Given the description of an element on the screen output the (x, y) to click on. 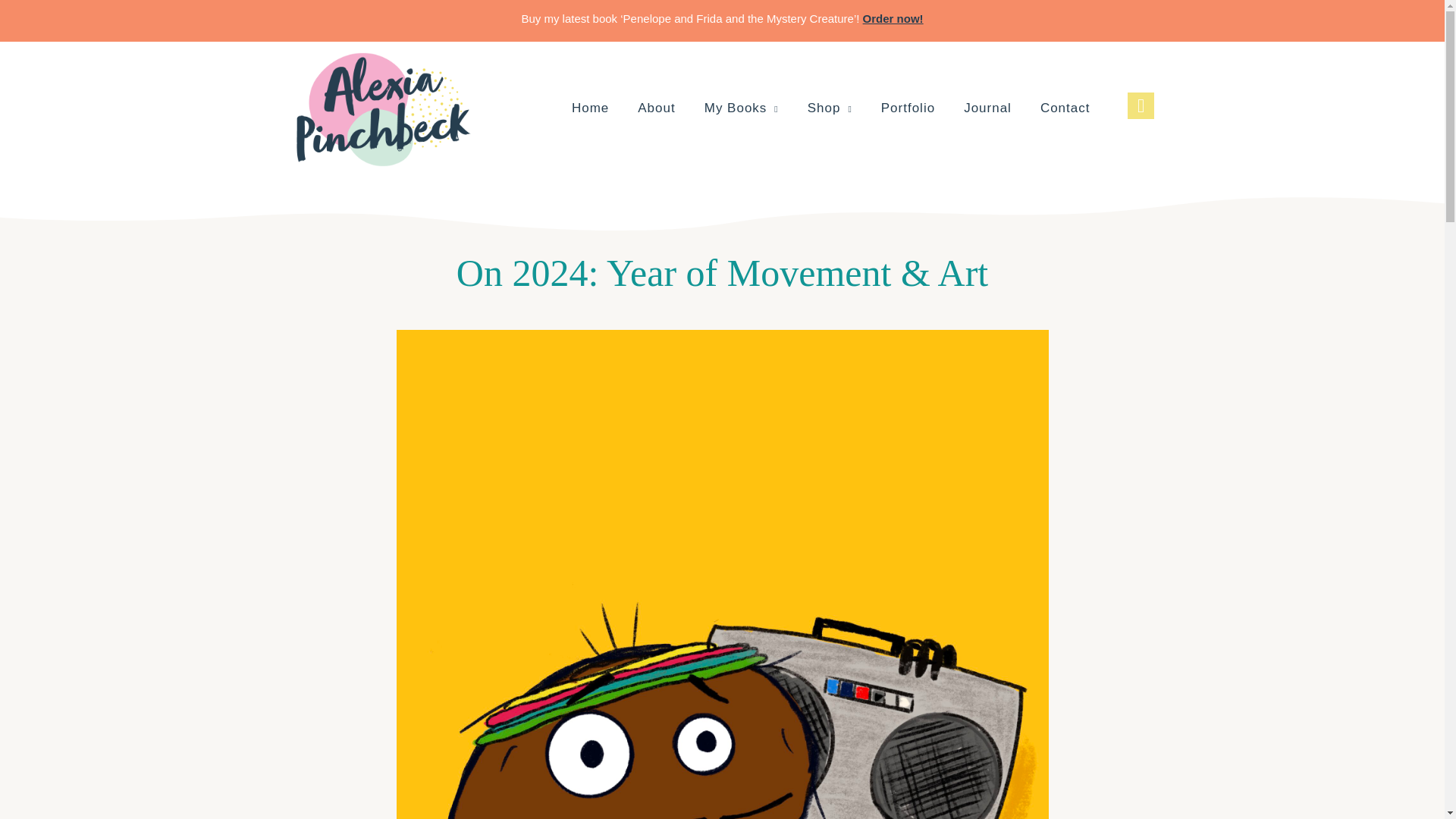
Journal (987, 109)
Portfolio (907, 109)
Contact (1064, 109)
Home (589, 109)
About (656, 109)
Shop (829, 109)
My Books (741, 109)
